Given the description of an element on the screen output the (x, y) to click on. 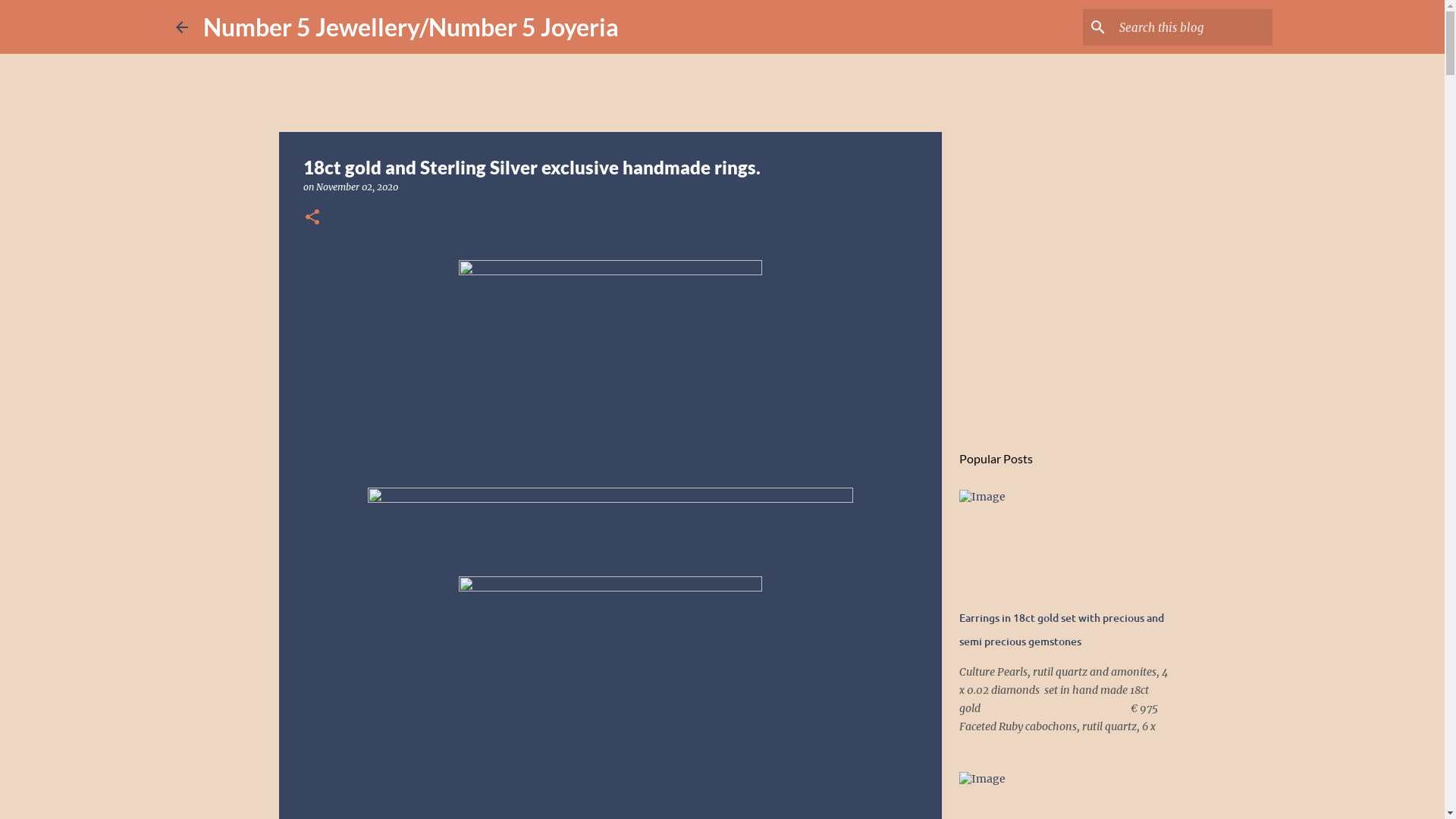
Number 5 Jewellery/Number 5 Joyeria Element type: text (410, 26)
November 02, 2020 Element type: text (357, 186)
